Given the description of an element on the screen output the (x, y) to click on. 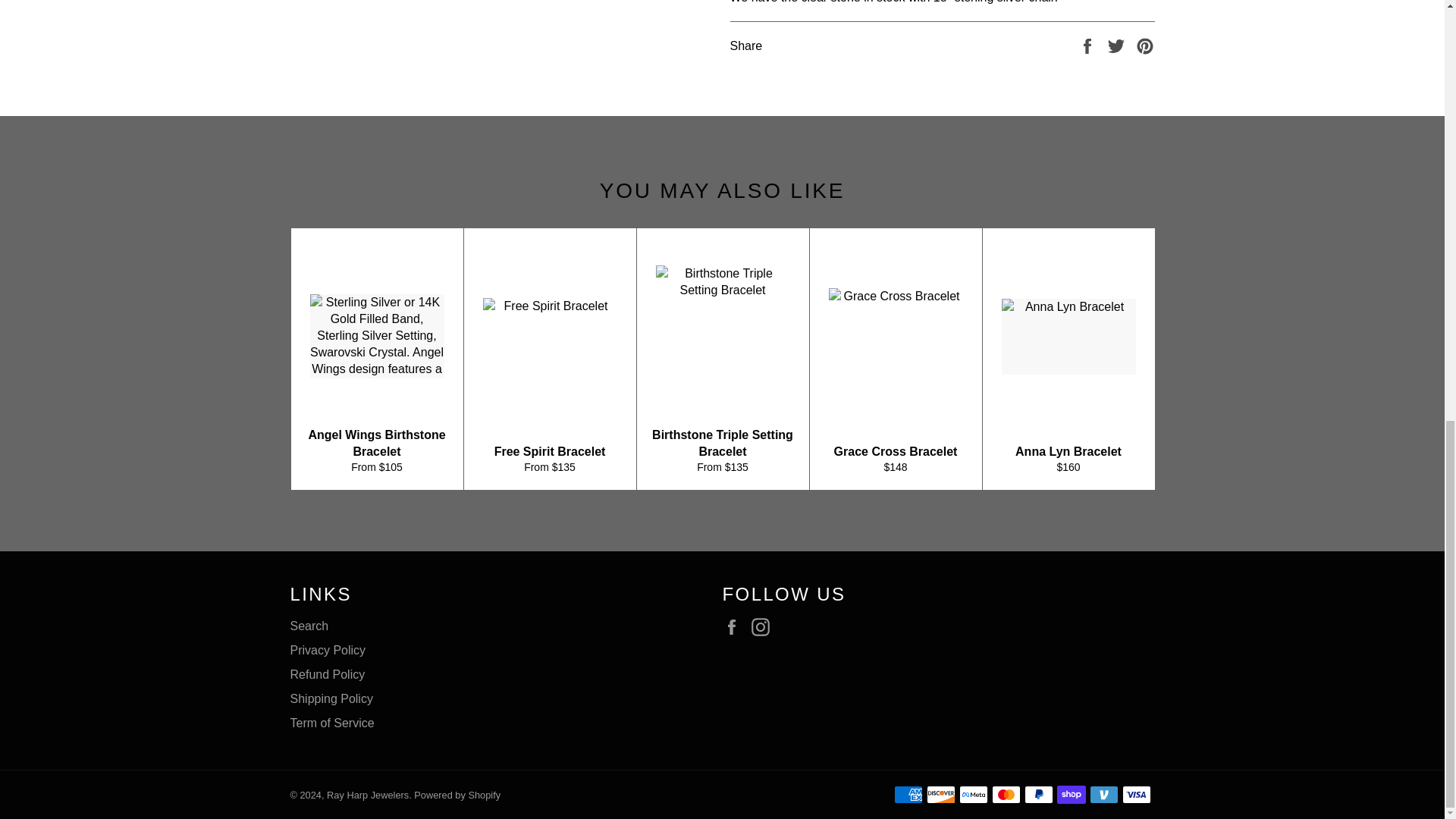
Ray Harp Jewelers on Facebook (735, 627)
Ray Harp Jewelers on Instagram (764, 627)
Pin on Pinterest (1144, 44)
Privacy Policy (327, 649)
Share on Facebook (1088, 44)
Shipping Policy (330, 698)
Pin on Pinterest (1144, 44)
Share on Facebook (1088, 44)
Refund Policy (327, 674)
Tweet on Twitter (1117, 44)
Search (309, 625)
Tweet on Twitter (1117, 44)
